Given the description of an element on the screen output the (x, y) to click on. 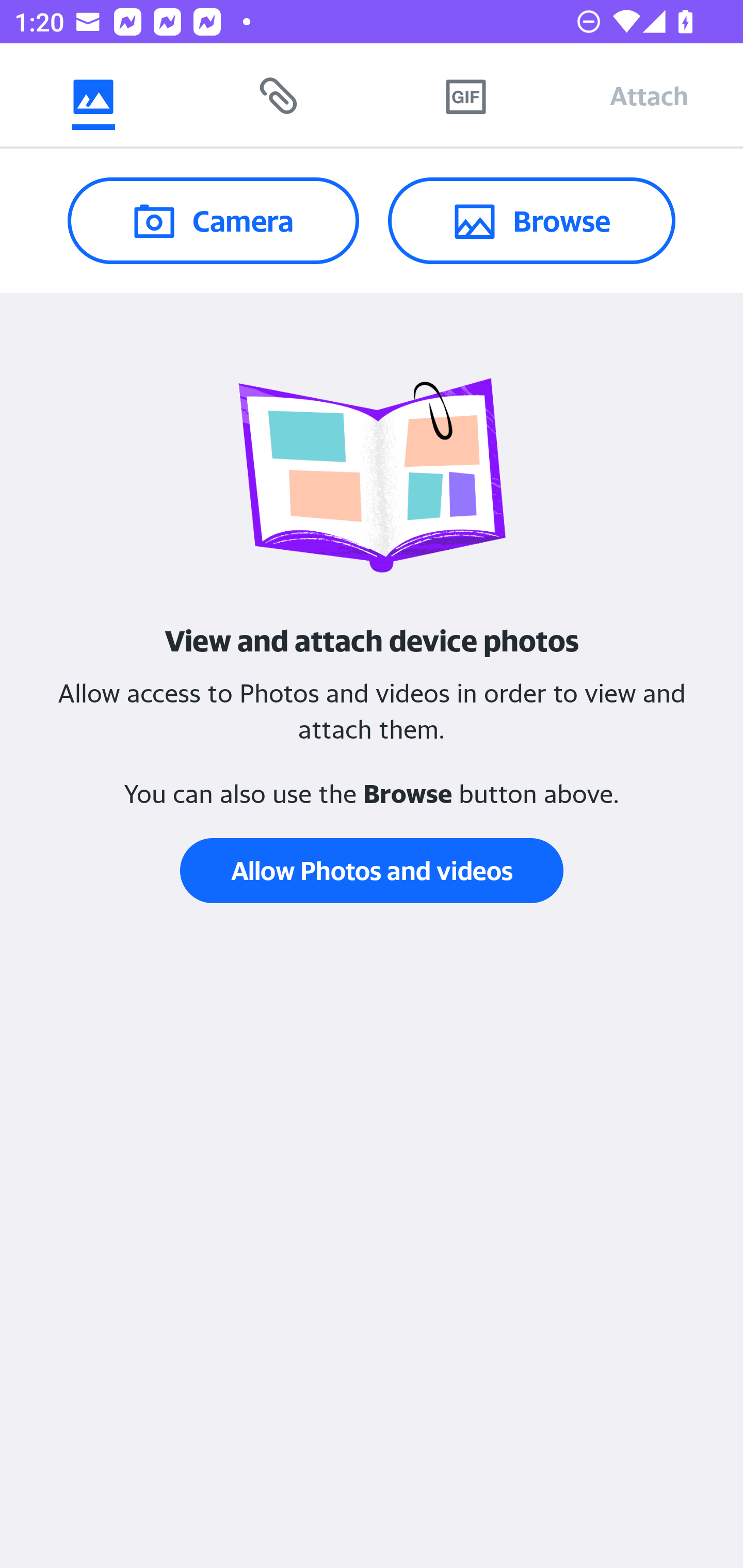
Camera photos (93, 95)
Recent attachments from mail (279, 95)
GIFs (465, 95)
Attach (649, 95)
Camera (212, 220)
Browse (531, 220)
Allow Photos and videos (371, 870)
